Given the description of an element on the screen output the (x, y) to click on. 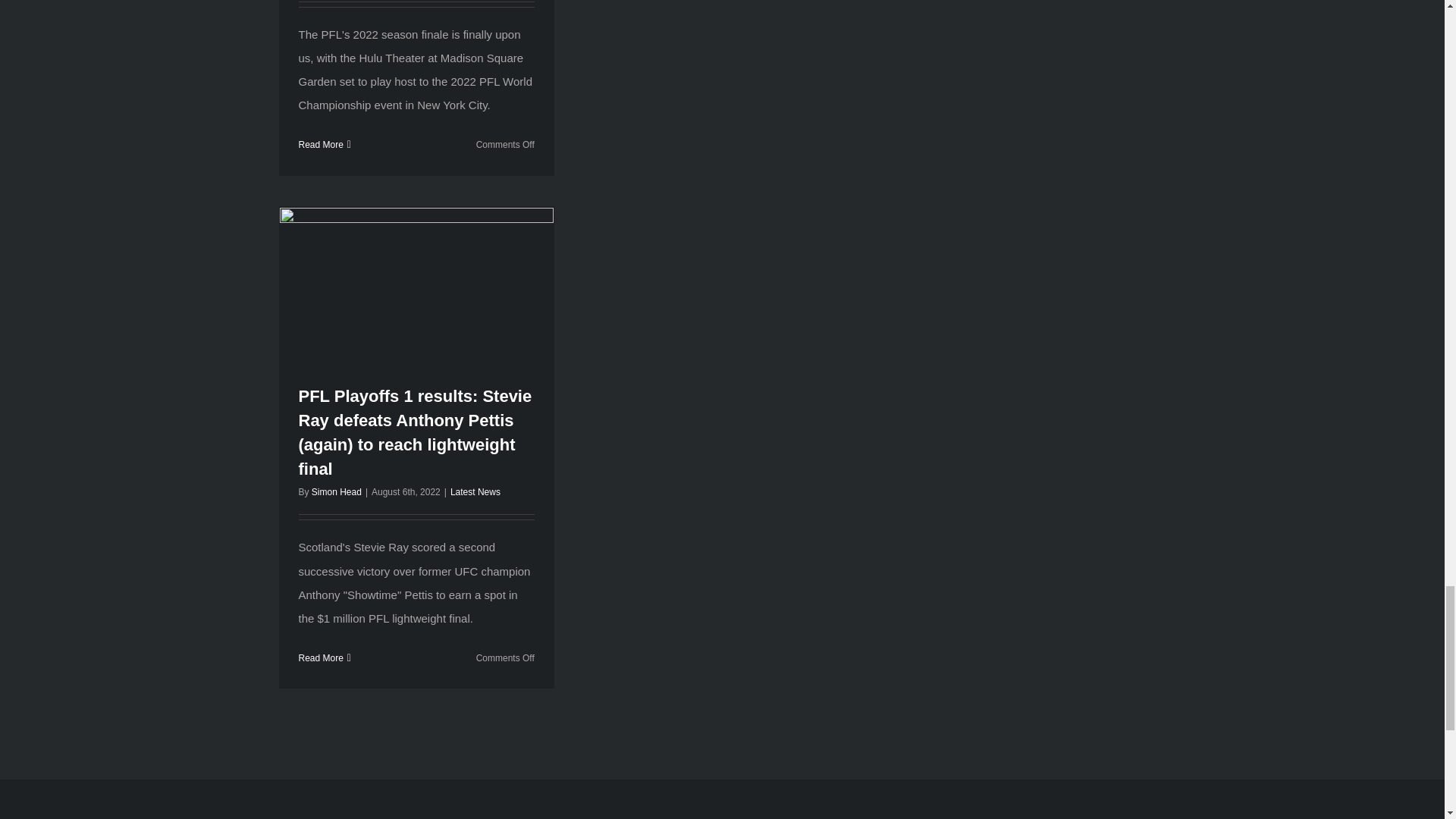
Posts by Simon Head (336, 491)
